Given the description of an element on the screen output the (x, y) to click on. 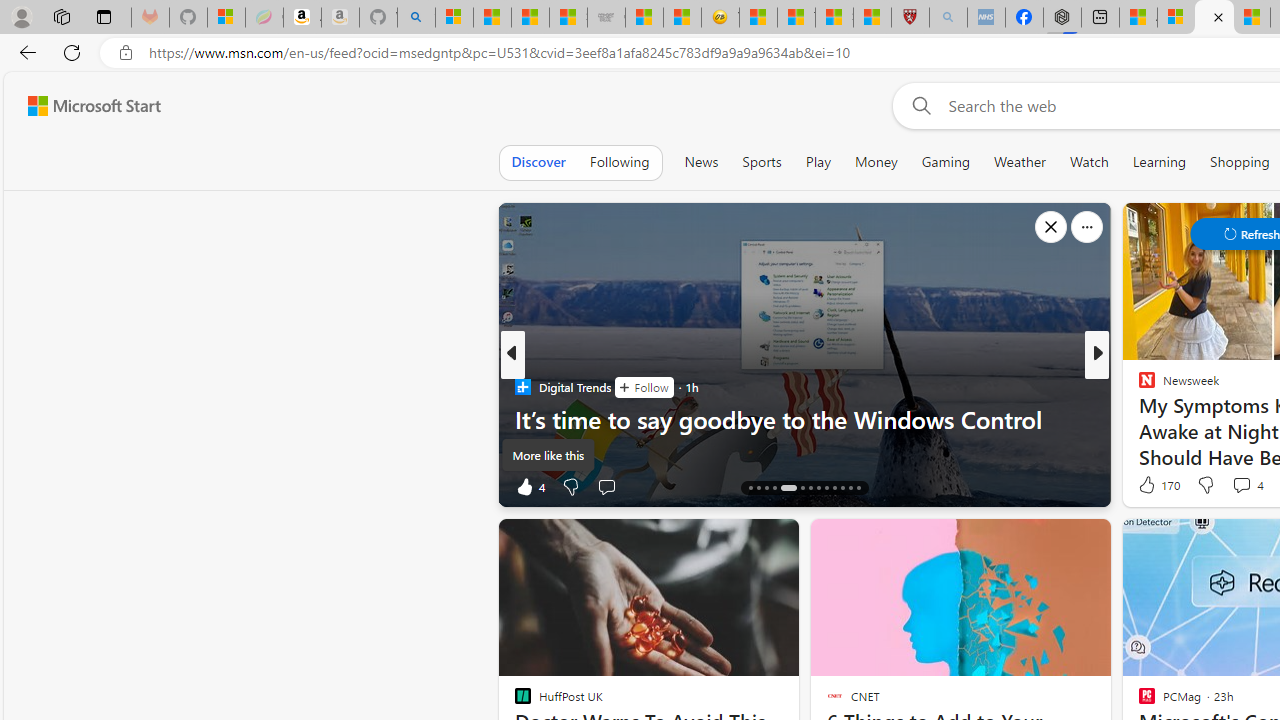
TODAY (1138, 386)
View comments 5 Comment (1234, 486)
28 Like (1149, 486)
